Given the description of an element on the screen output the (x, y) to click on. 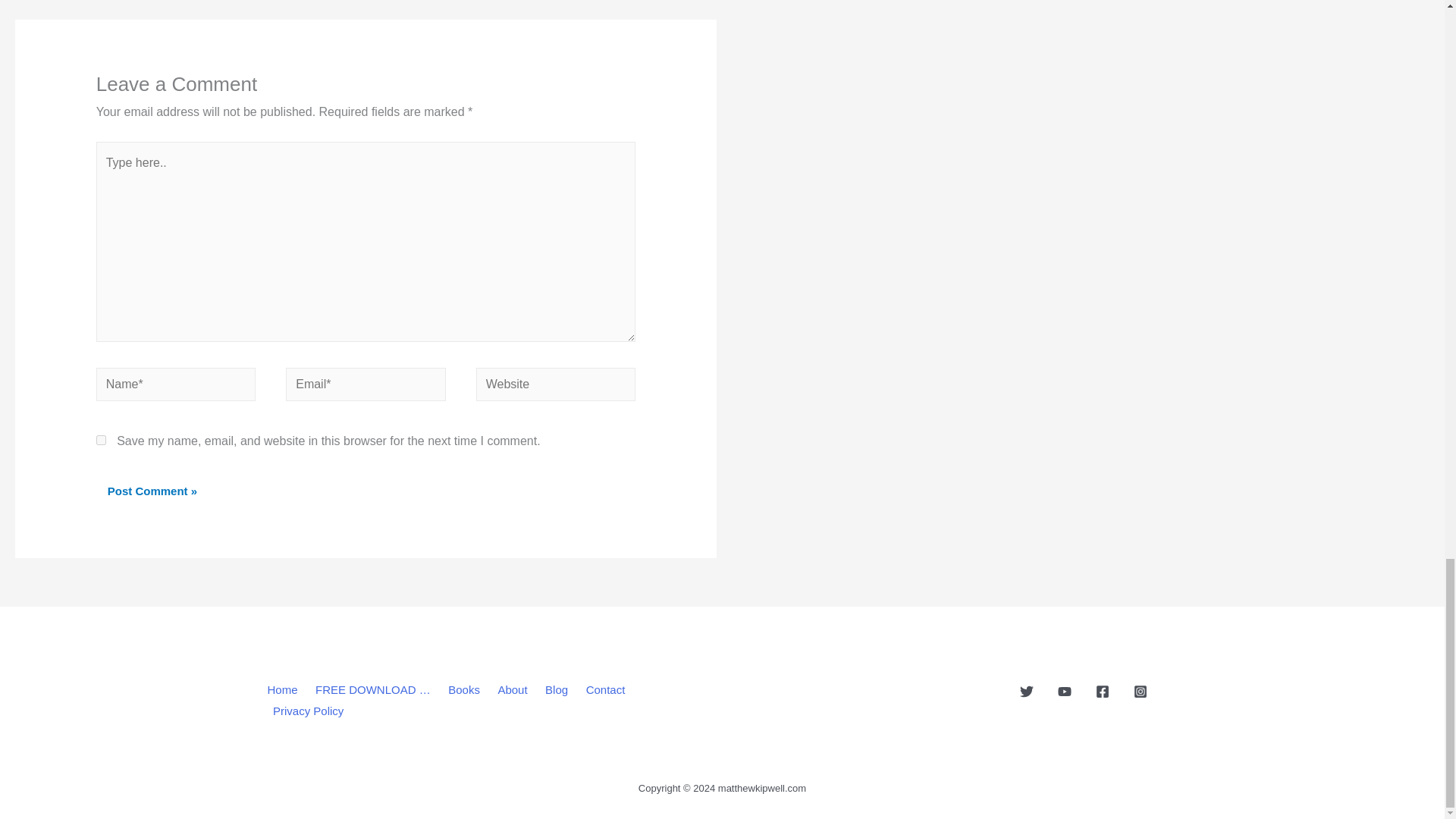
yes (101, 439)
